Given the description of an element on the screen output the (x, y) to click on. 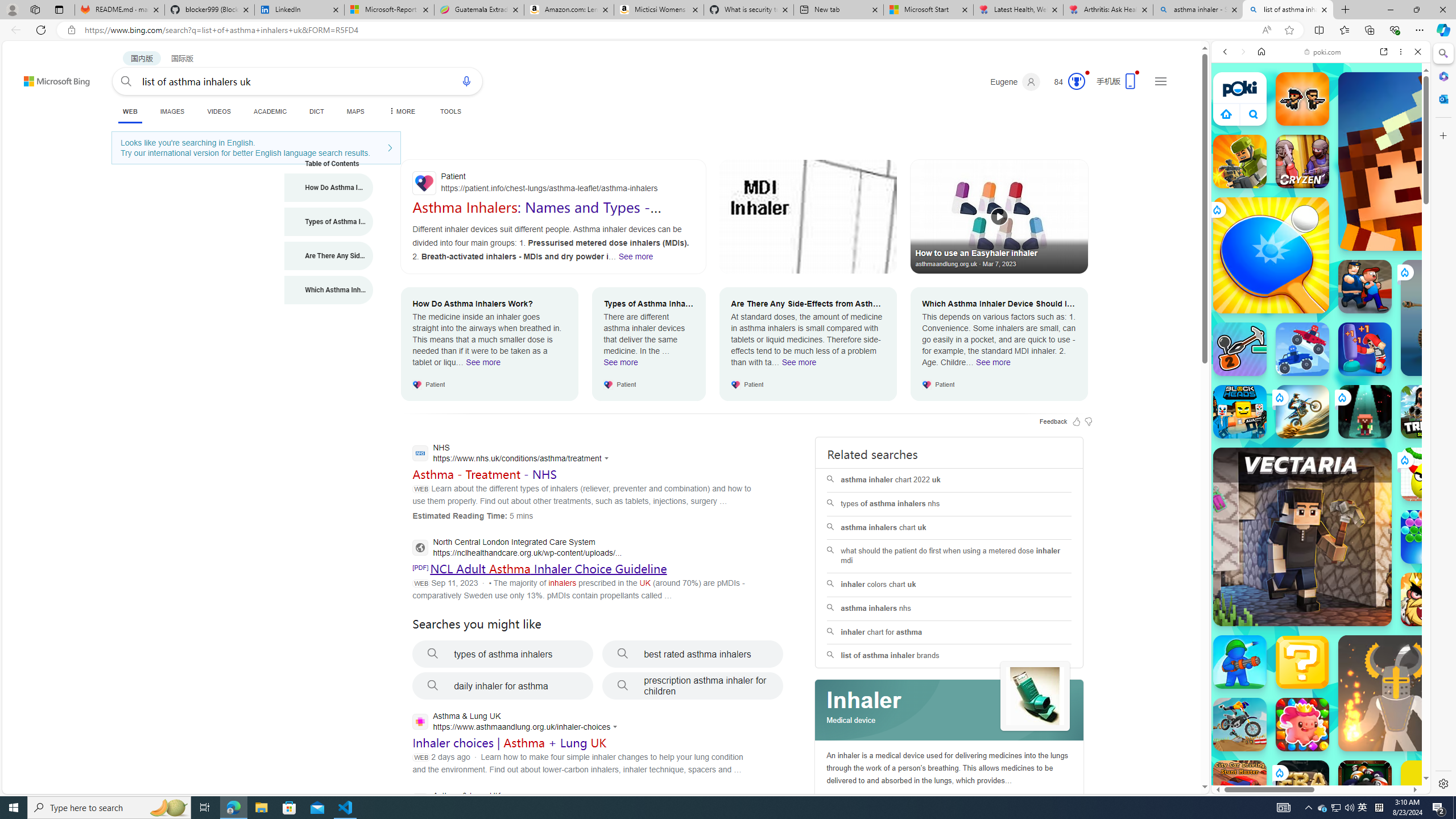
asthma inhalers chart uk (949, 527)
Stunt Bike Extreme Stunt Bike Extreme (1302, 411)
Draw To Smash: Logic Puzzle (1427, 474)
Battle Wheels (1302, 348)
Games for Girls (1320, 406)
Hills of Steel Hills of Steel poki.com (1264, 548)
Class: rCs5cyEiqiTpYvt_VBCR (1279, 772)
Stunt Bike Extreme (1302, 411)
How Do Asthma Inhalers Work? (328, 187)
daily inhaler for asthma (503, 685)
Dropdown Menu (400, 111)
